Given the description of an element on the screen output the (x, y) to click on. 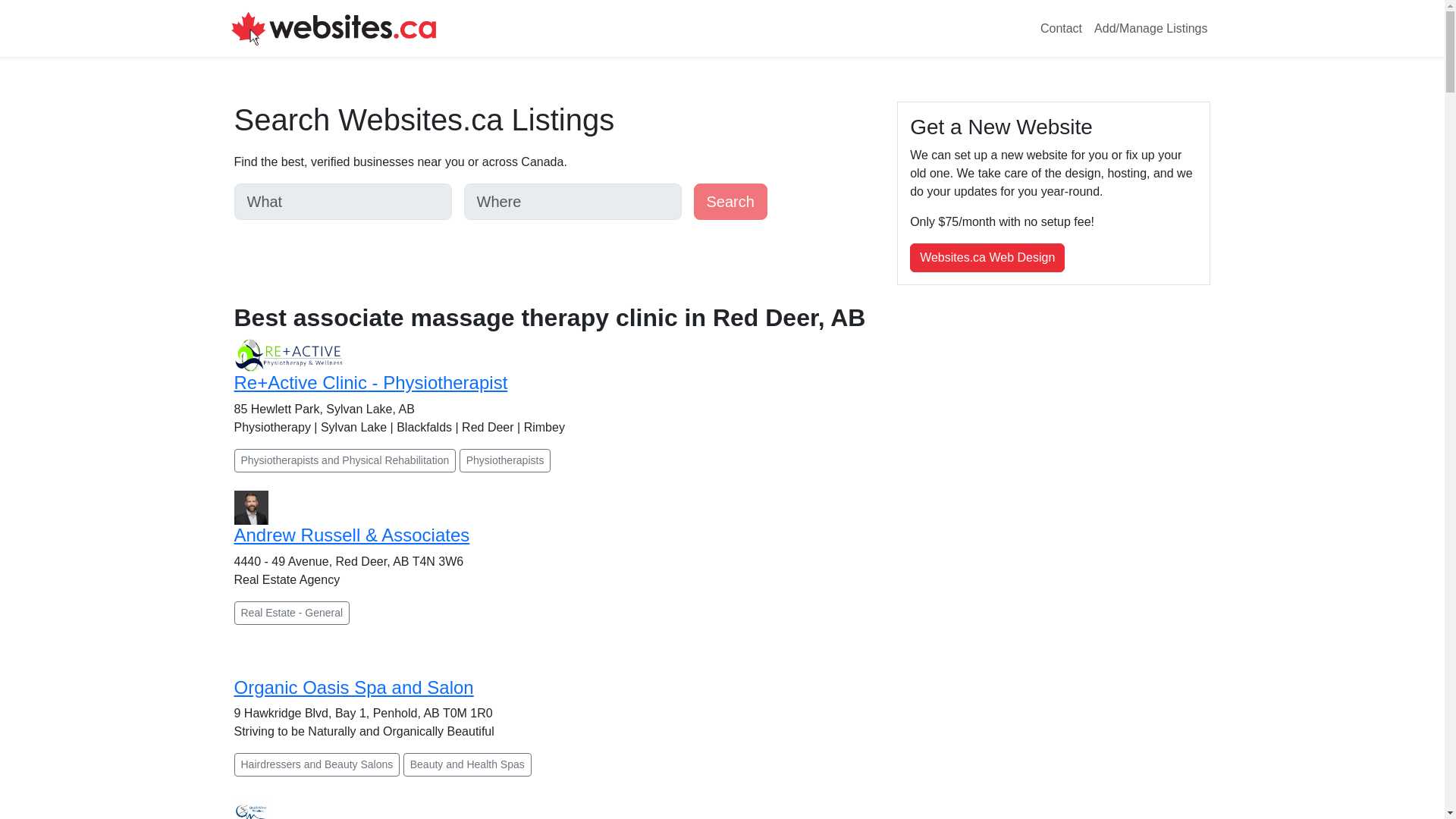
Real Estate - General (290, 612)
Websites.ca Web Design (987, 257)
Physiotherapists and Physical Rehabilitation (343, 460)
Beauty and Health Spas (467, 764)
Physiotherapists (505, 460)
Organic Oasis Spa and Salon (352, 687)
Contact (1060, 28)
Hairdressers and Beauty Salons (315, 764)
Search (730, 201)
